Given the description of an element on the screen output the (x, y) to click on. 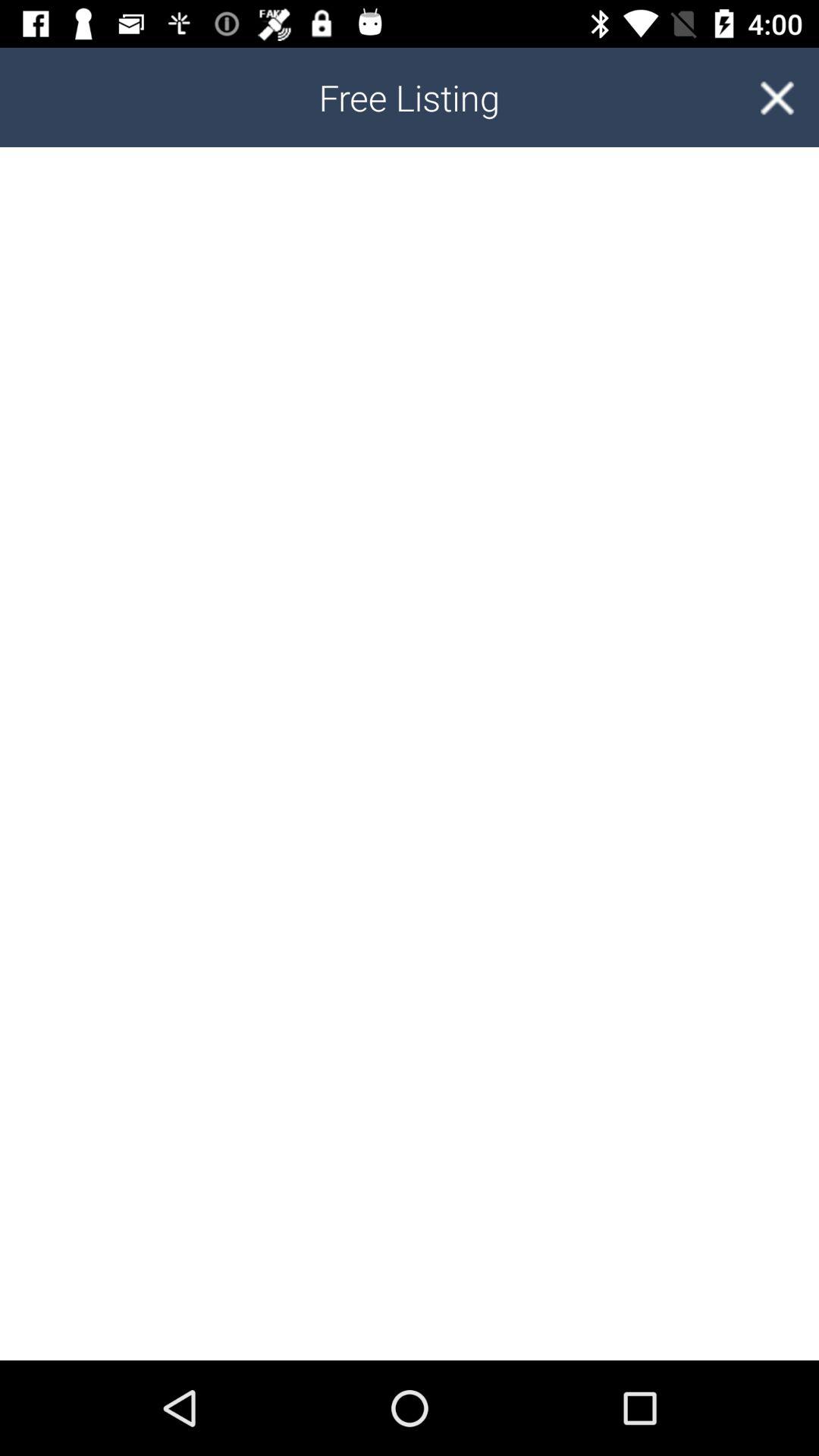
turn off the item at the center (409, 753)
